Given the description of an element on the screen output the (x, y) to click on. 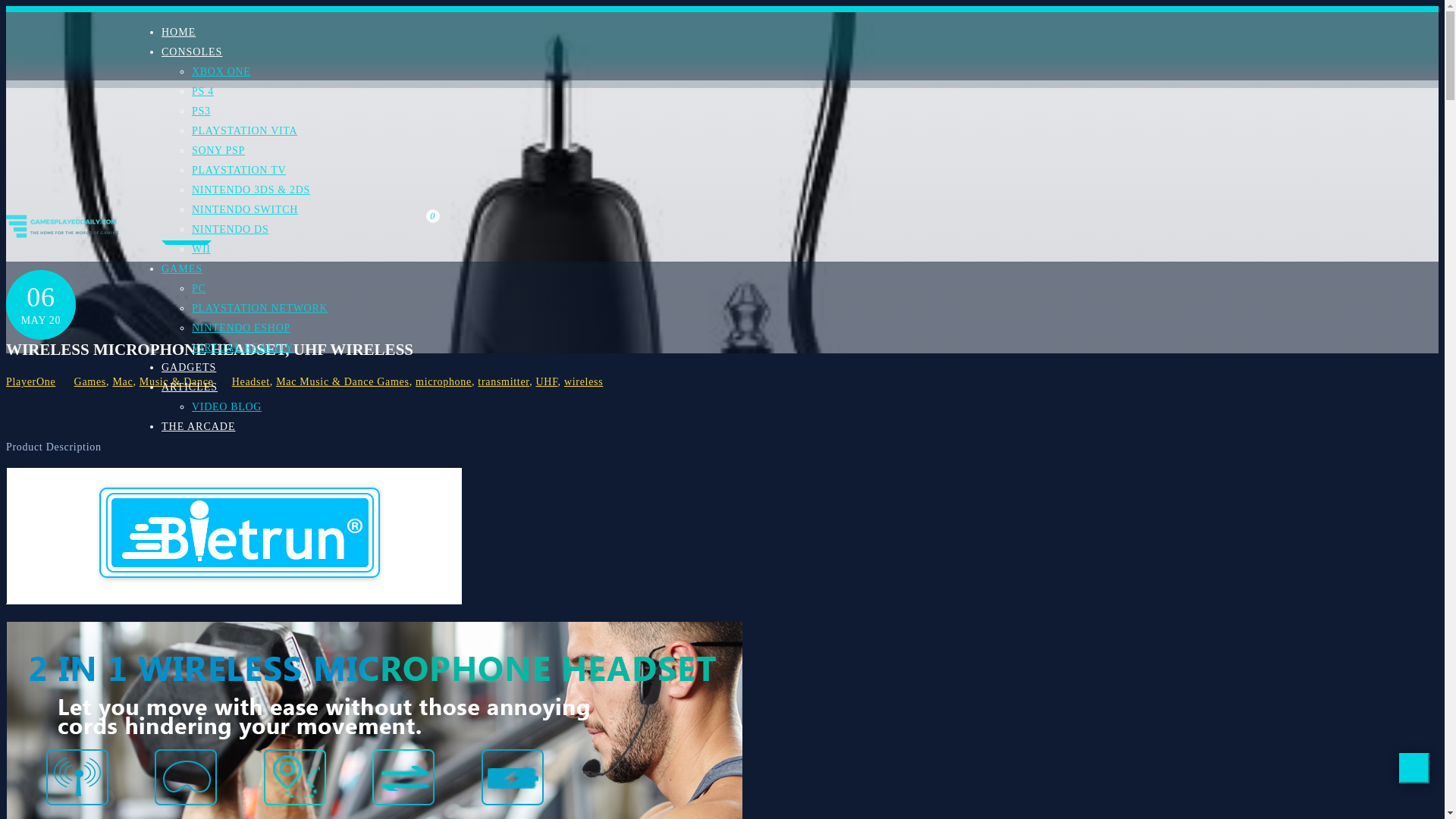
NINTENDO DS (229, 229)
Category (151, 381)
VIRTUAL REALITY (243, 347)
PLAYSTATION VITA (244, 130)
SONY PSP (218, 150)
NINTENDO SWITCH (245, 209)
Back to Top (1414, 767)
NINTENDO ESHOP (240, 327)
PLAYSTATION TV (238, 170)
PS3 (201, 111)
HOME (178, 20)
CONSOLES (191, 40)
XBOX ONE (221, 71)
Tagged (416, 381)
